Given the description of an element on the screen output the (x, y) to click on. 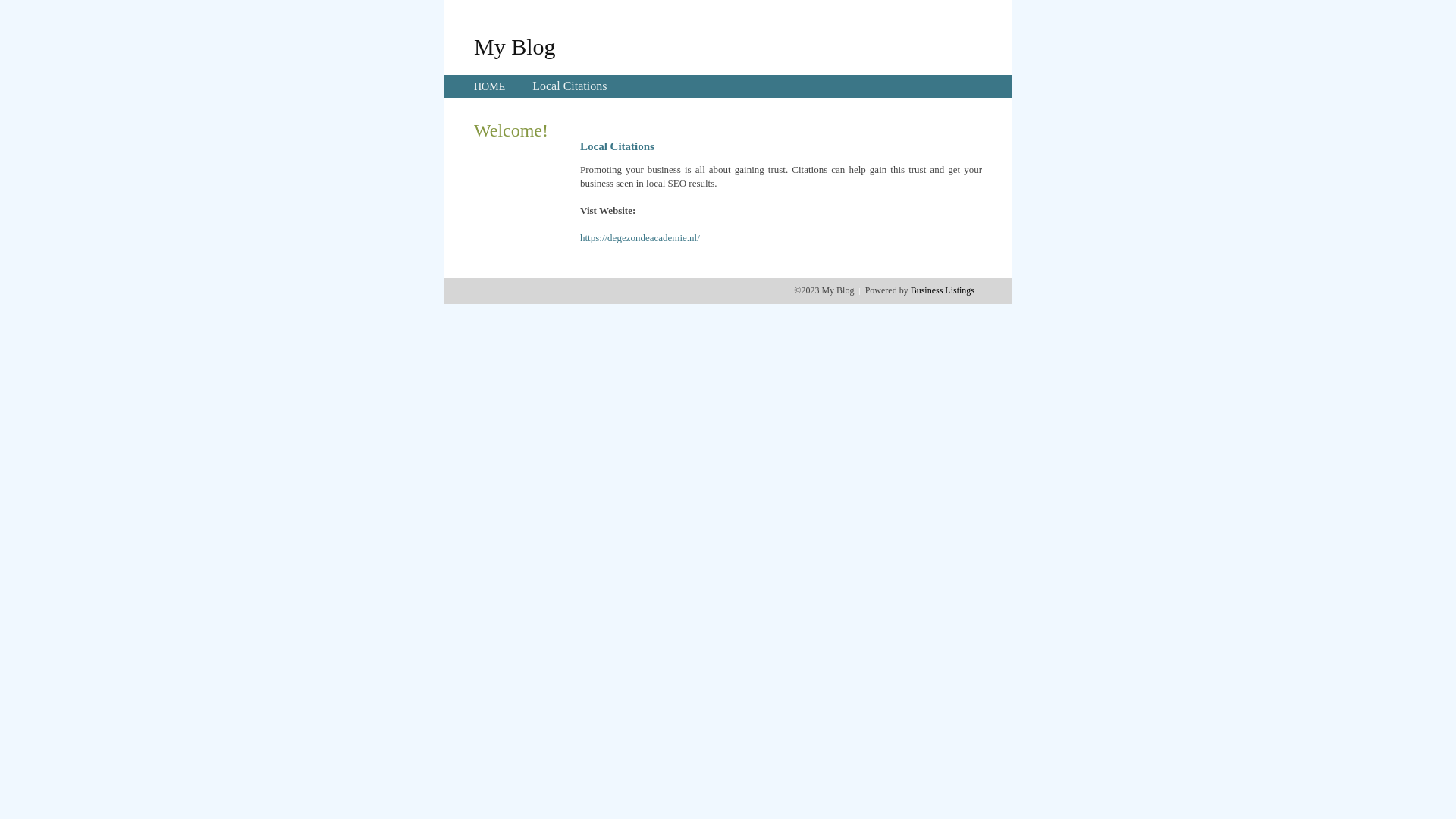
HOME Element type: text (489, 86)
https://degezondeacademie.nl/ Element type: text (639, 237)
Local Citations Element type: text (569, 85)
My Blog Element type: text (514, 46)
Business Listings Element type: text (942, 290)
